Given the description of an element on the screen output the (x, y) to click on. 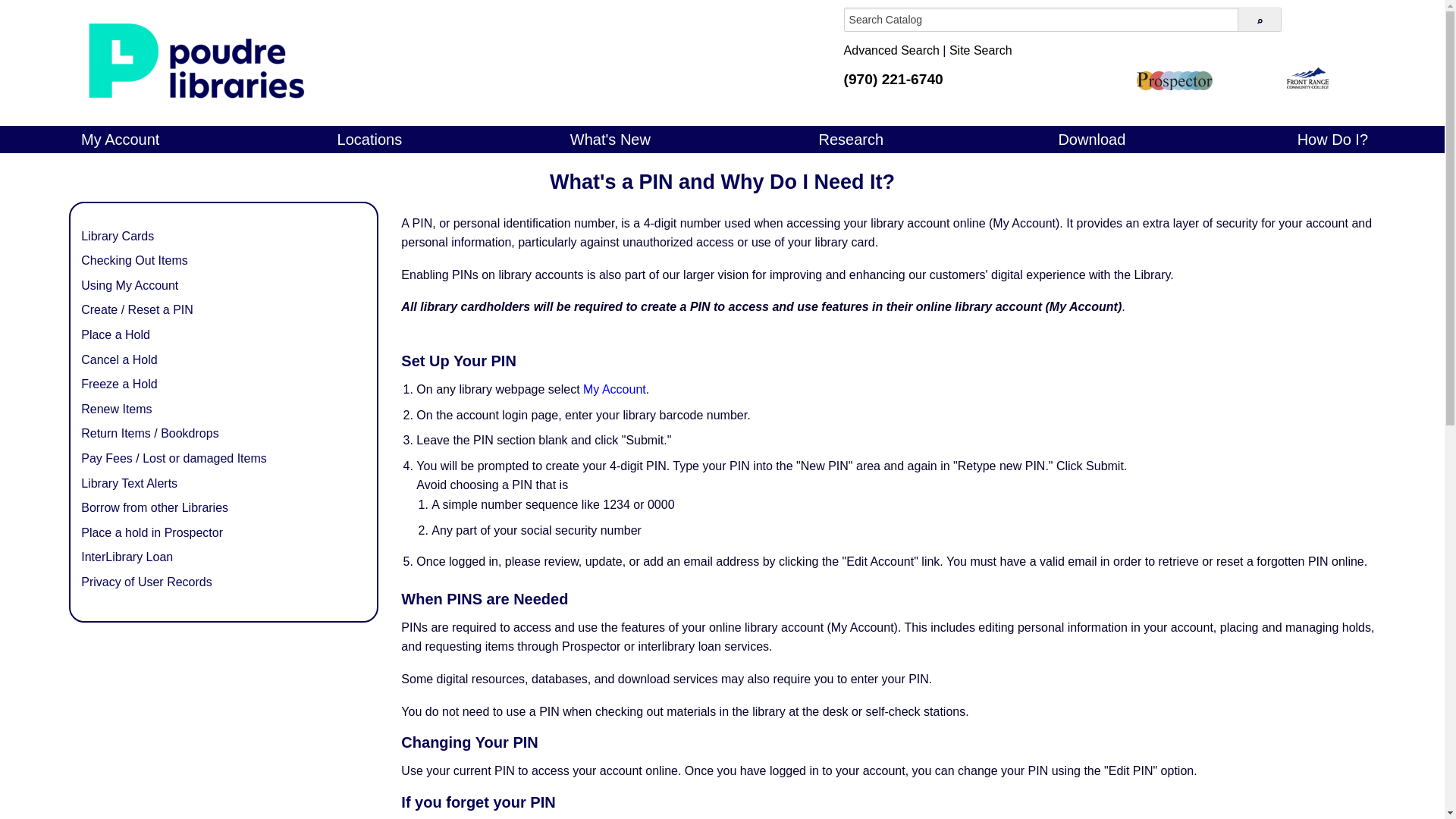
Privacy of User Records (223, 582)
InterLibrary Loan (223, 557)
Cancel a Hold (223, 360)
My Account (614, 389)
Borrow from other Libraries (223, 507)
Library Cards (223, 236)
Place a Hold (223, 334)
Search Catalog (1041, 19)
Freeze a Hold (223, 383)
Advanced Search (891, 50)
